Given the description of an element on the screen output the (x, y) to click on. 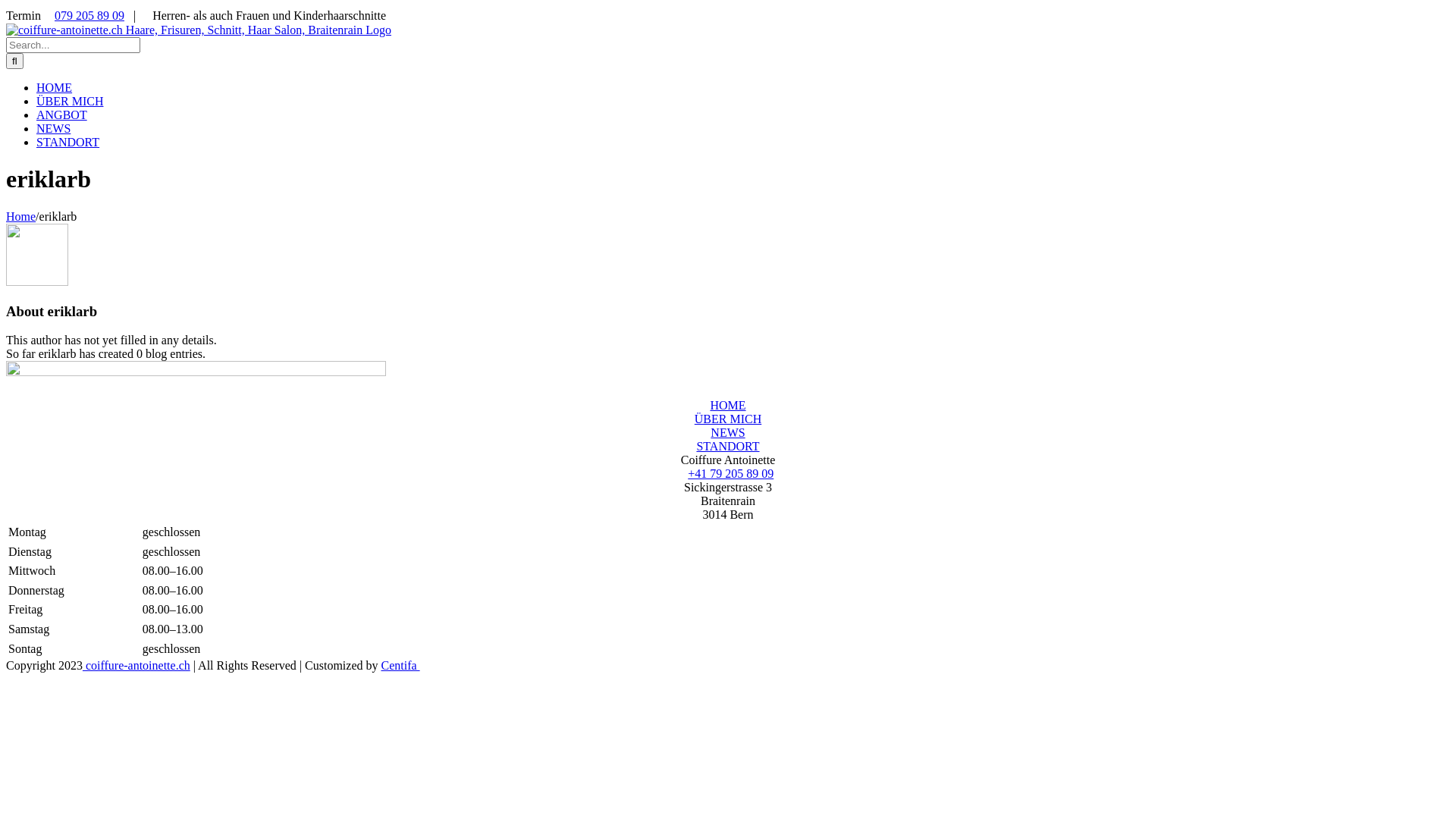
Home Element type: text (20, 216)
HOME Element type: text (727, 404)
ANGBOT Element type: text (61, 114)
HOME Element type: text (54, 87)
Skip to content Element type: text (5, 5)
+41 79 205 89 09 Element type: text (730, 473)
079 205 89 09 Element type: text (89, 15)
coiffure-antoinette.ch Element type: text (136, 664)
Centifa Element type: text (404, 664)
NEWS Element type: text (53, 128)
NEWS Element type: text (727, 432)
STANDORT Element type: text (727, 445)
STANDORT Element type: text (67, 141)
